Given the description of an element on the screen output the (x, y) to click on. 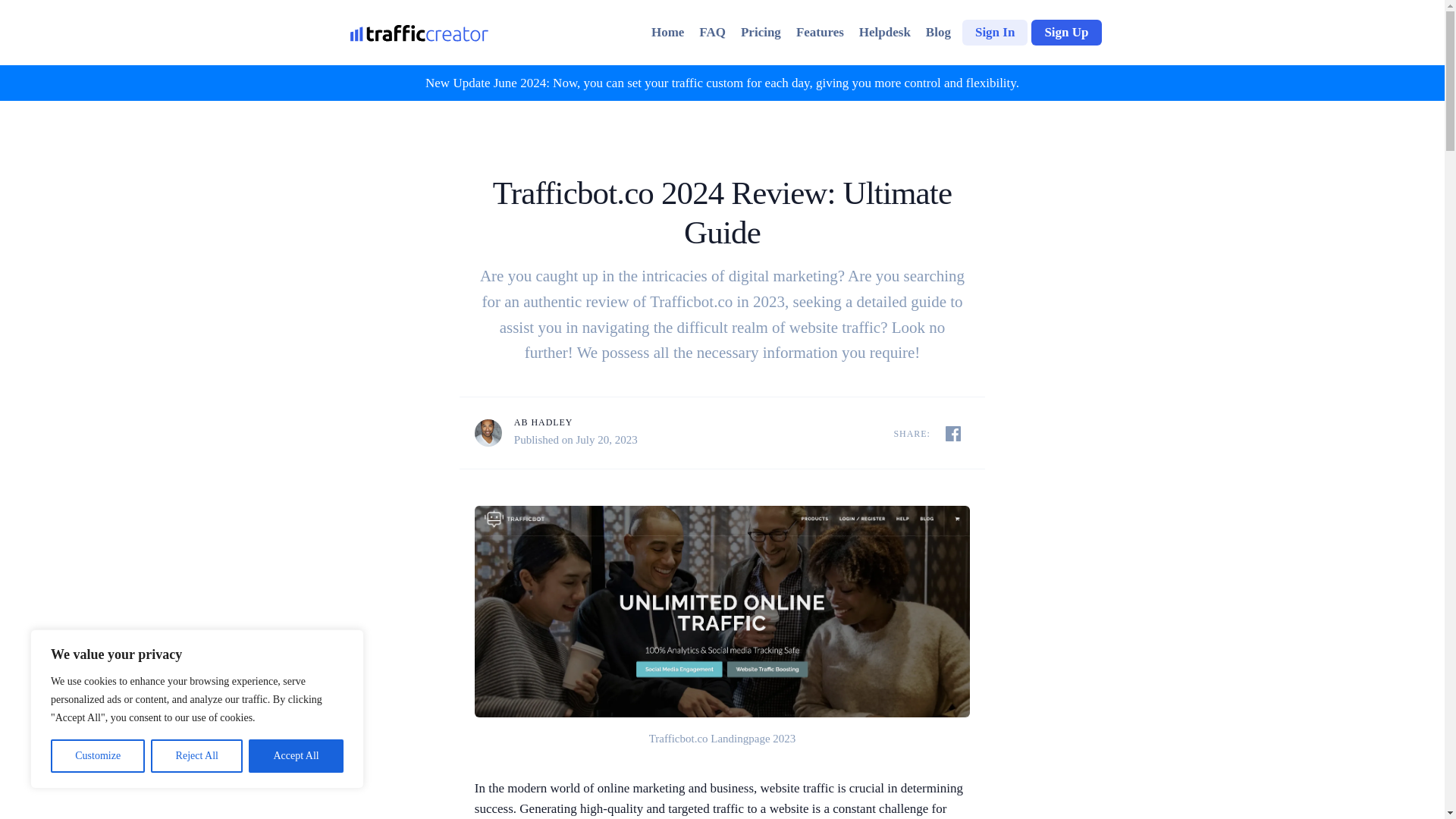
Pricing (761, 31)
Blog (938, 31)
Accept All (295, 756)
Home (667, 31)
Features (820, 31)
Sign Up (1065, 32)
Customize (97, 756)
Sign In (994, 32)
Reject All (197, 756)
Helpdesk (884, 31)
